Given the description of an element on the screen output the (x, y) to click on. 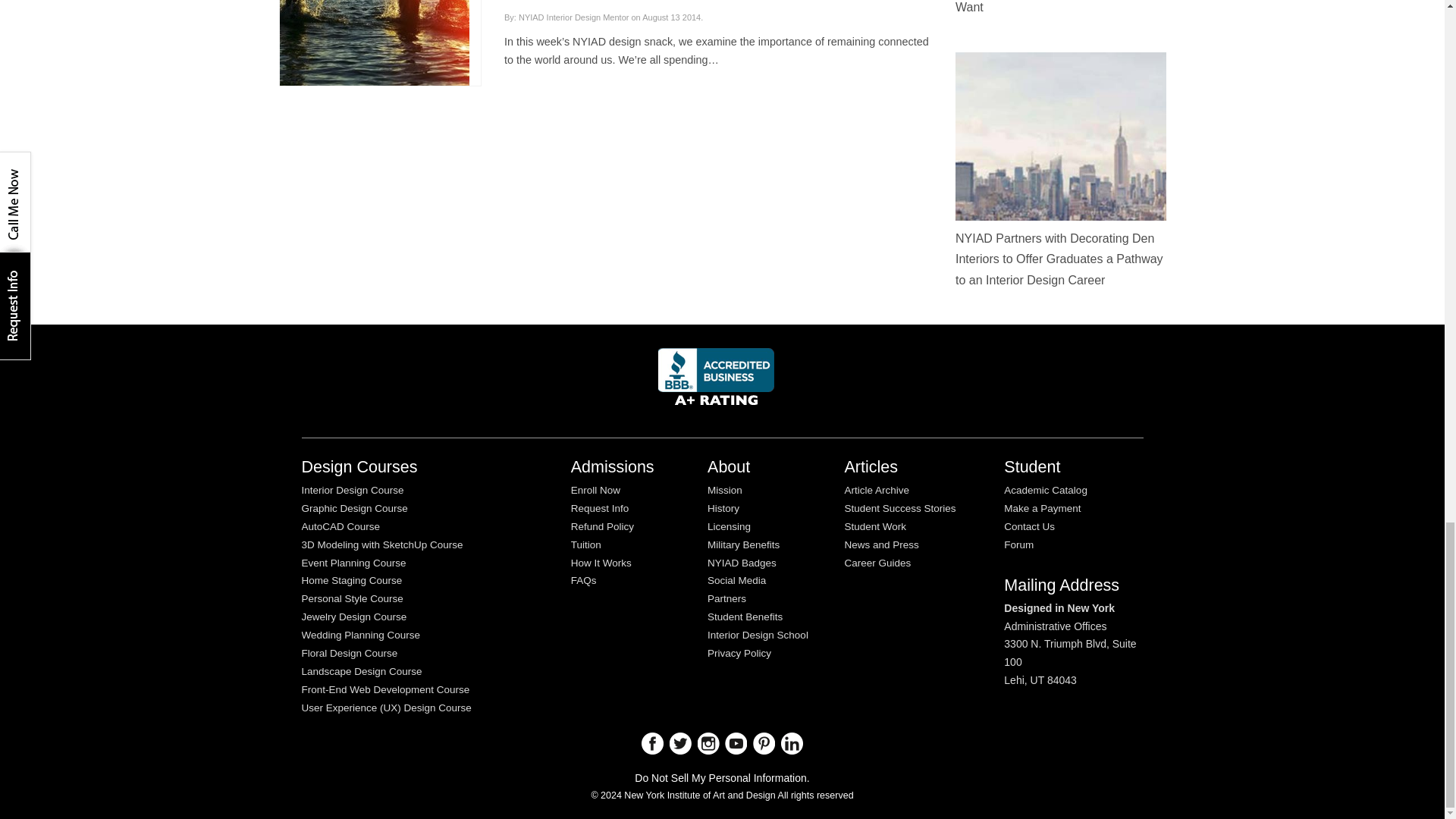
Detach from Technology - NYIAD Design Snack (373, 42)
Detach from Technology - NYIAD Design Snack (373, 9)
Stack Skills to Build the Career You Want (1050, 6)
